Given the description of an element on the screen output the (x, y) to click on. 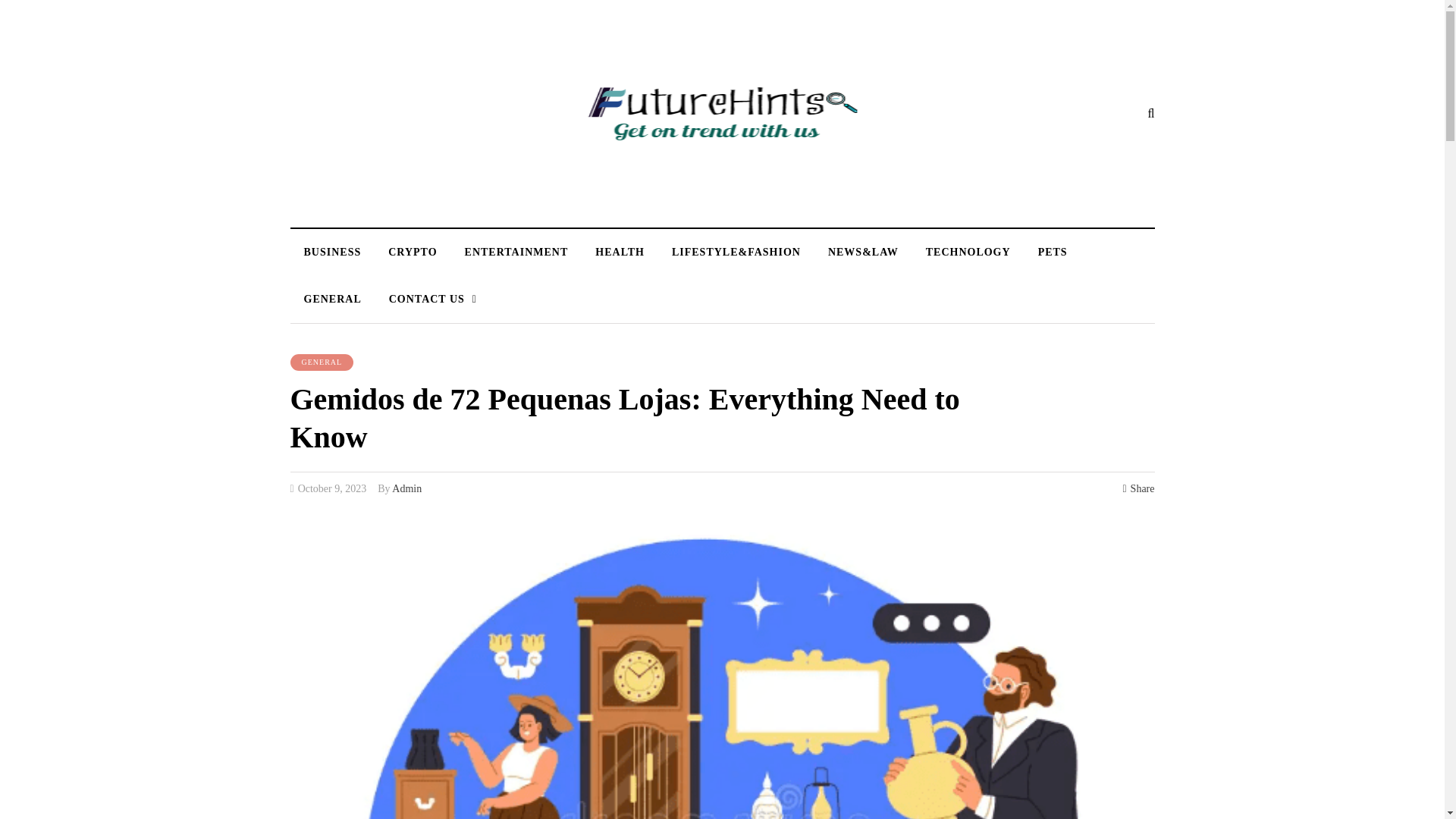
CONTACT US (432, 299)
PETS (1053, 252)
BUSINESS (331, 252)
GENERAL (331, 299)
Posts by Admin (406, 487)
Admin (406, 487)
HEALTH (619, 252)
TECHNOLOGY (968, 252)
ENTERTAINMENT (516, 252)
CRYPTO (411, 252)
GENERAL (321, 362)
